Given the description of an element on the screen output the (x, y) to click on. 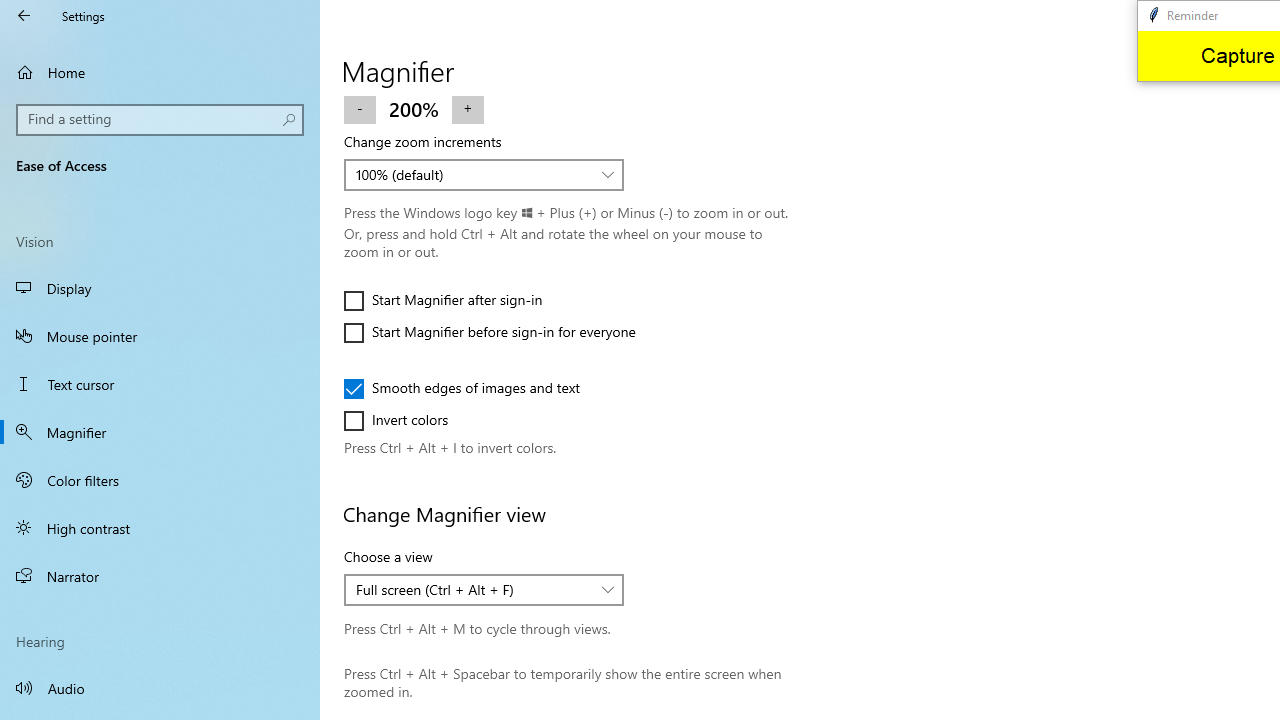
Change zoom increments (484, 174)
Display (160, 287)
Start Magnifier after sign-in (443, 300)
Color filters (160, 479)
100% (default) (473, 174)
Zoom in (467, 107)
Full screen (Ctrl + Alt + F) (473, 589)
